Given the description of an element on the screen output the (x, y) to click on. 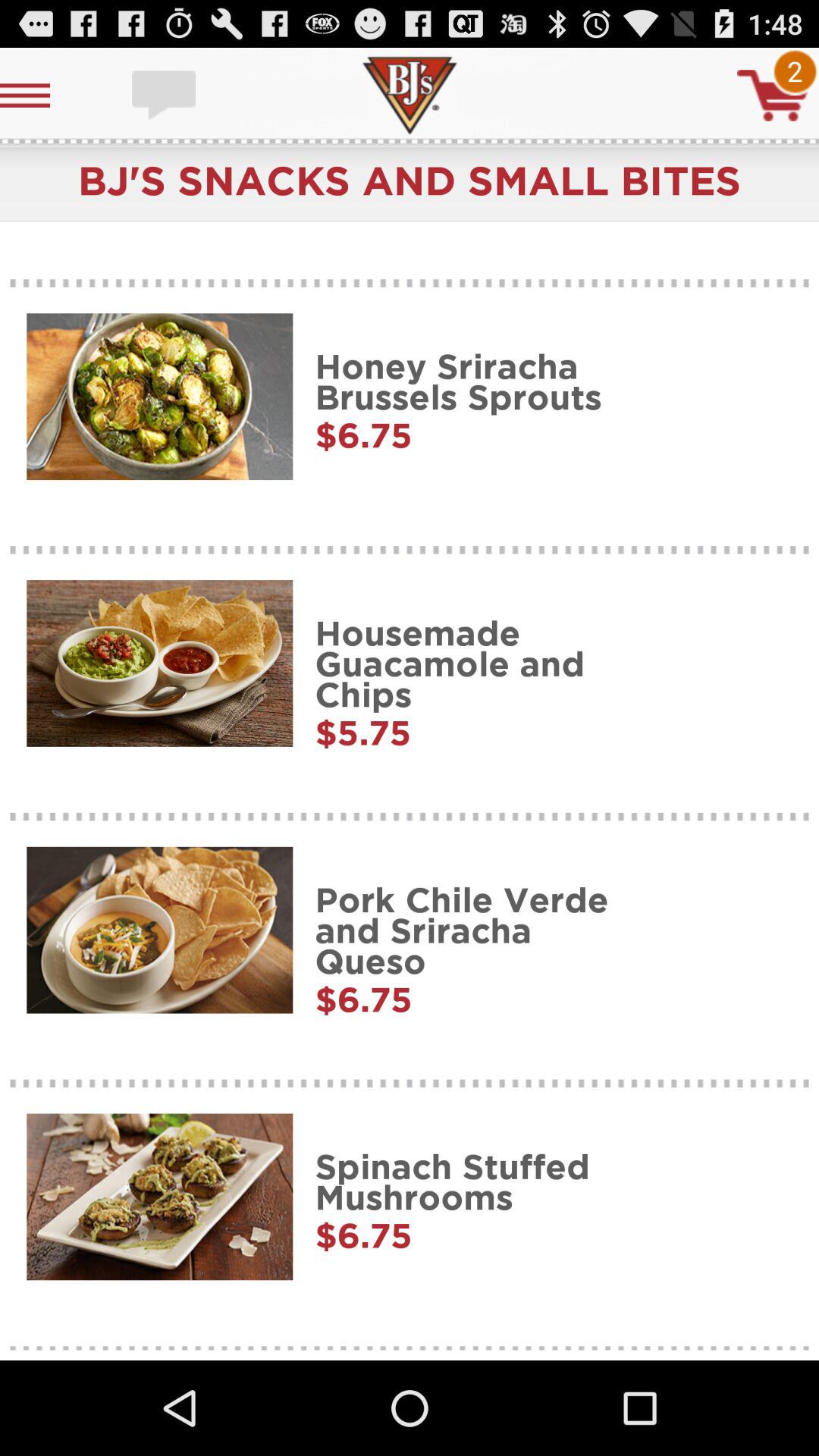
inbox (165, 95)
